Given the description of an element on the screen output the (x, y) to click on. 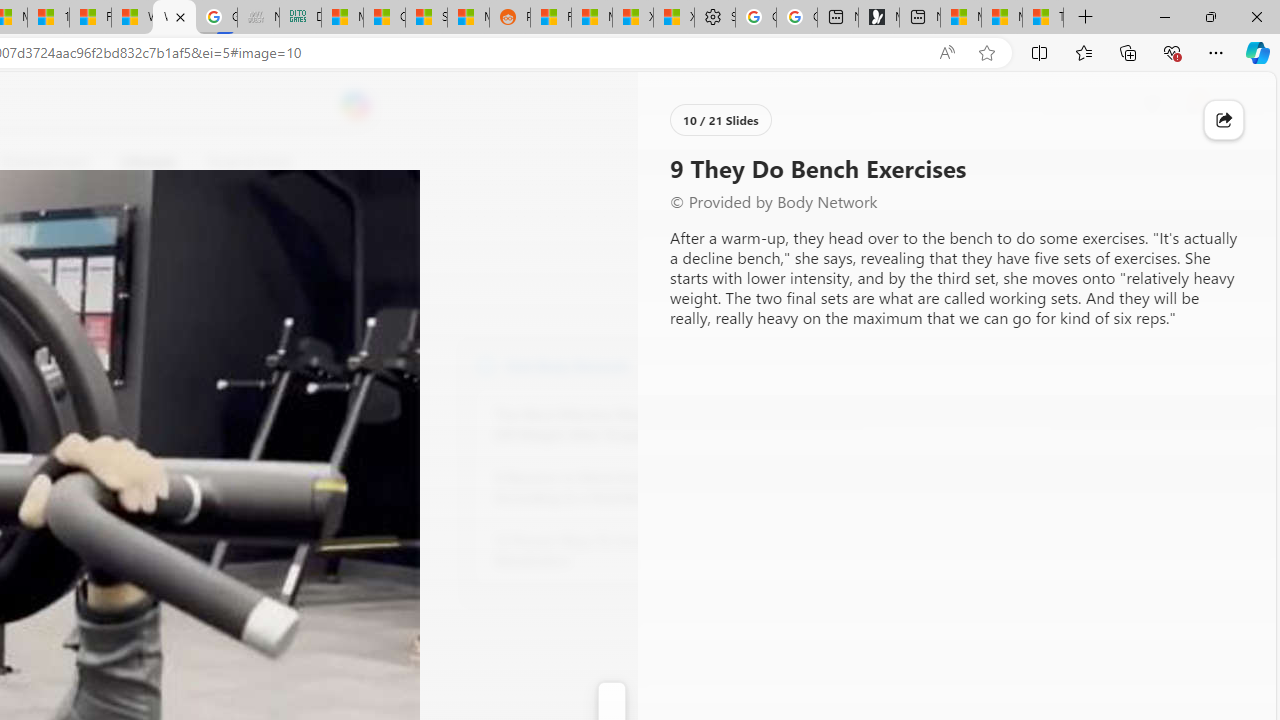
Personalize (711, 162)
Lifestyle (148, 162)
Lifestyle (148, 162)
14 Common Myths Debunked By Scientific Facts (48, 17)
Navy Quest (258, 17)
Go to publisher's site (180, 258)
